Given the description of an element on the screen output the (x, y) to click on. 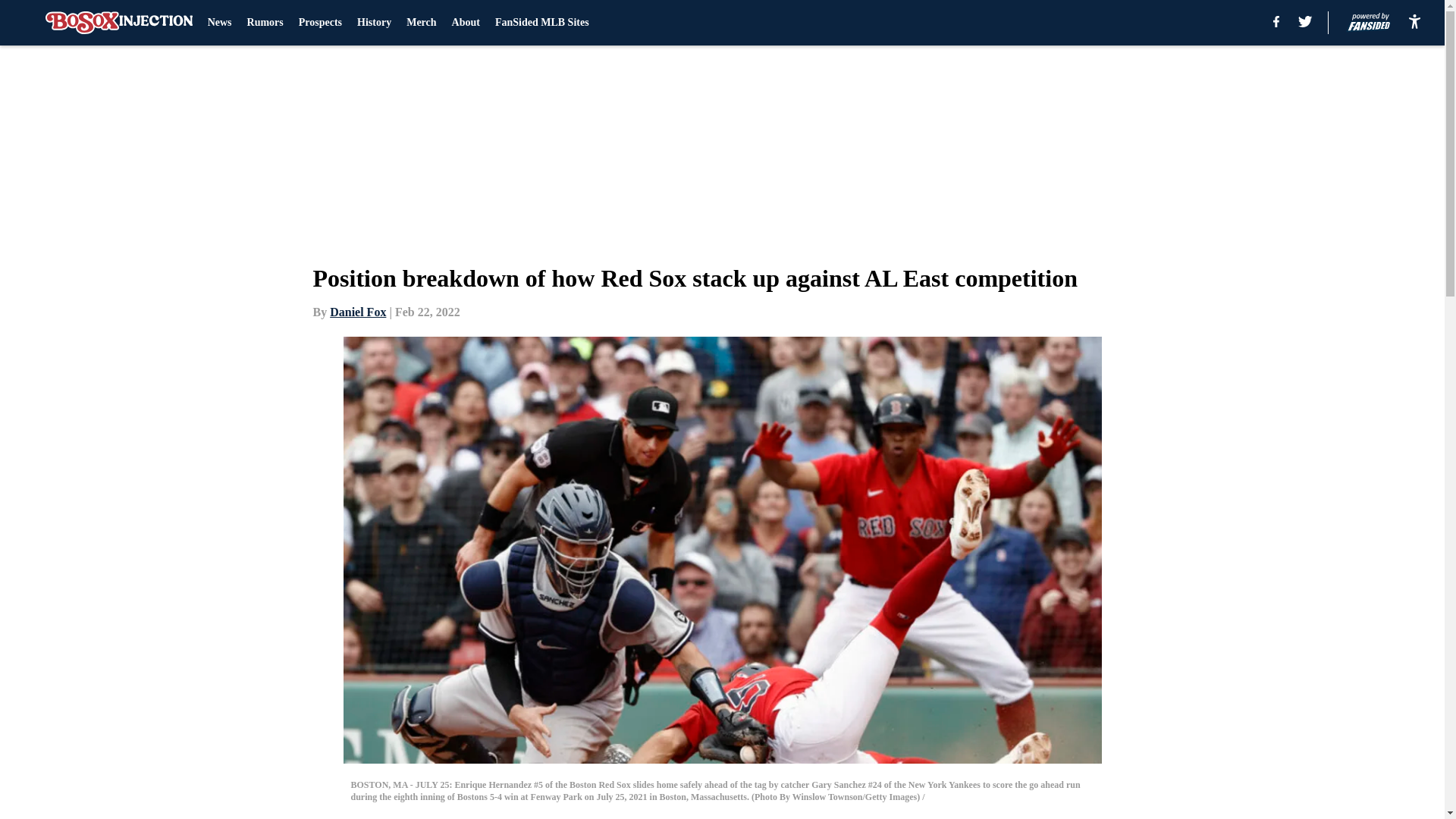
Prospects (320, 22)
Merch (420, 22)
Rumors (265, 22)
Daniel Fox (357, 311)
History (373, 22)
FanSided MLB Sites (542, 22)
News (219, 22)
About (465, 22)
